Given the description of an element on the screen output the (x, y) to click on. 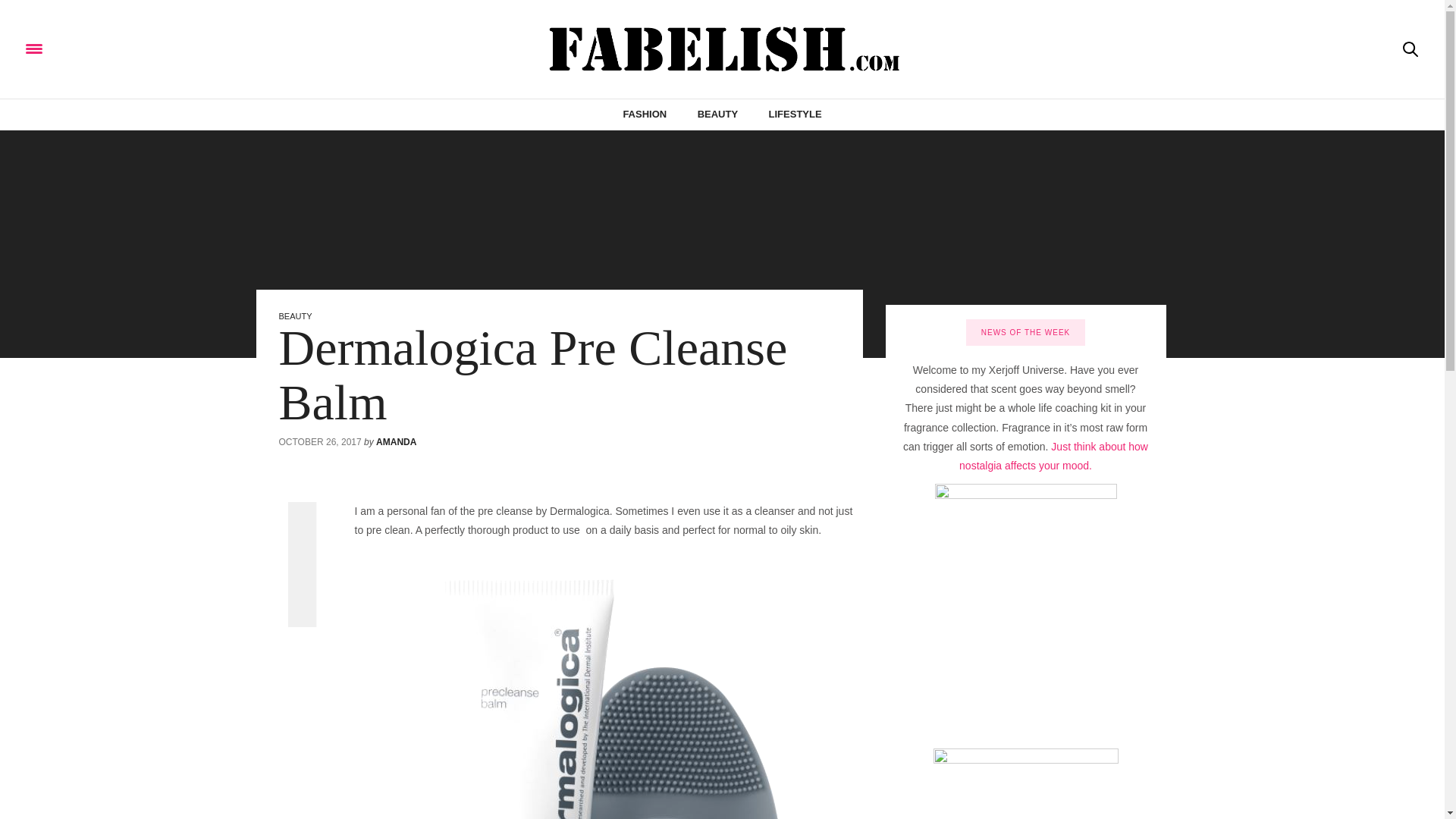
FASHION (644, 114)
Fabelish (721, 49)
BEAUTY (717, 114)
Fabelish (160, 47)
